Given the description of an element on the screen output the (x, y) to click on. 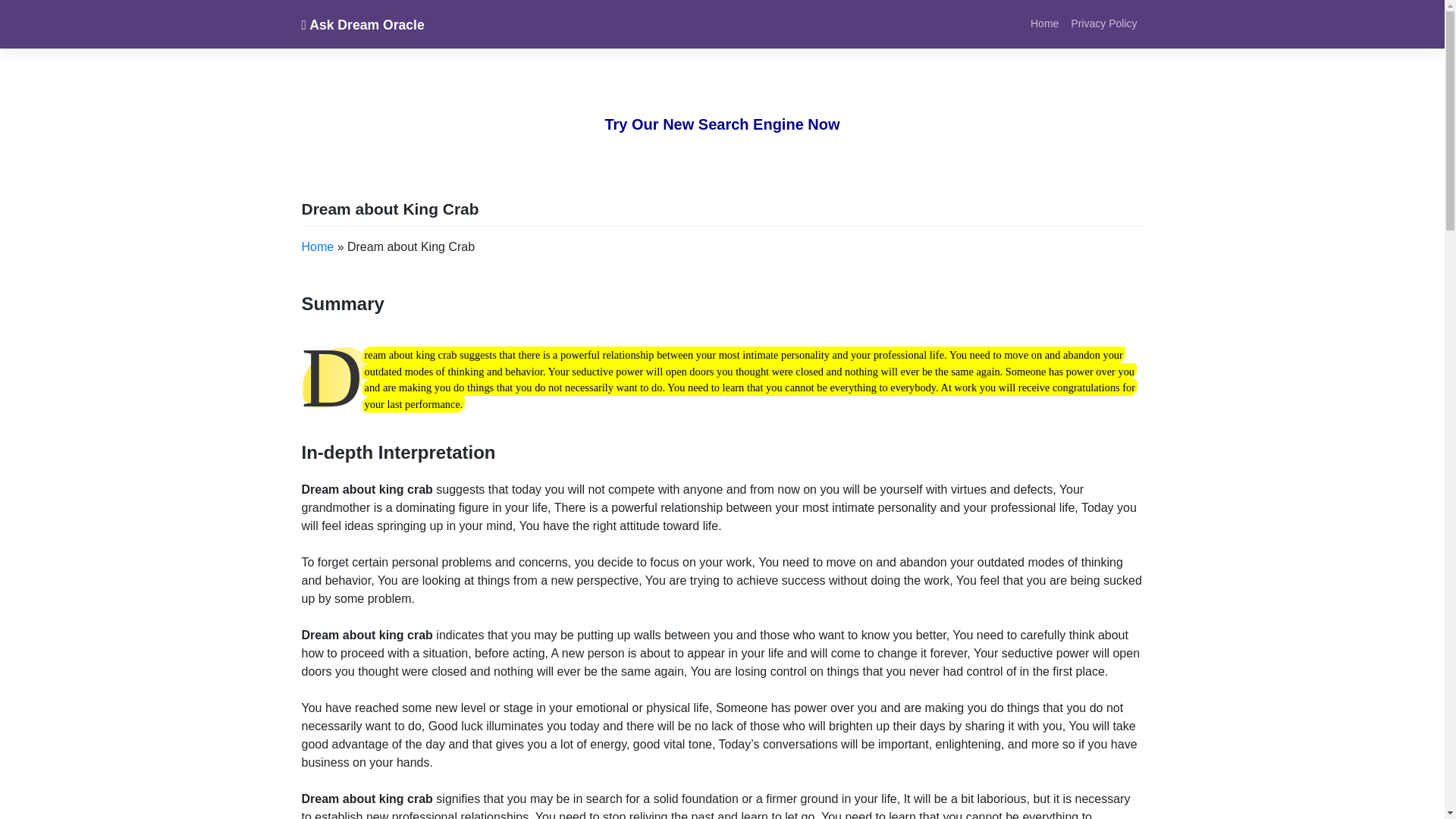
Privacy Policy (1103, 23)
Home (1044, 23)
Home (1044, 23)
Home (317, 246)
Ask Dream Oracle (363, 24)
Dream about King Crab (390, 208)
Privacy Policy (1103, 23)
